Given the description of an element on the screen output the (x, y) to click on. 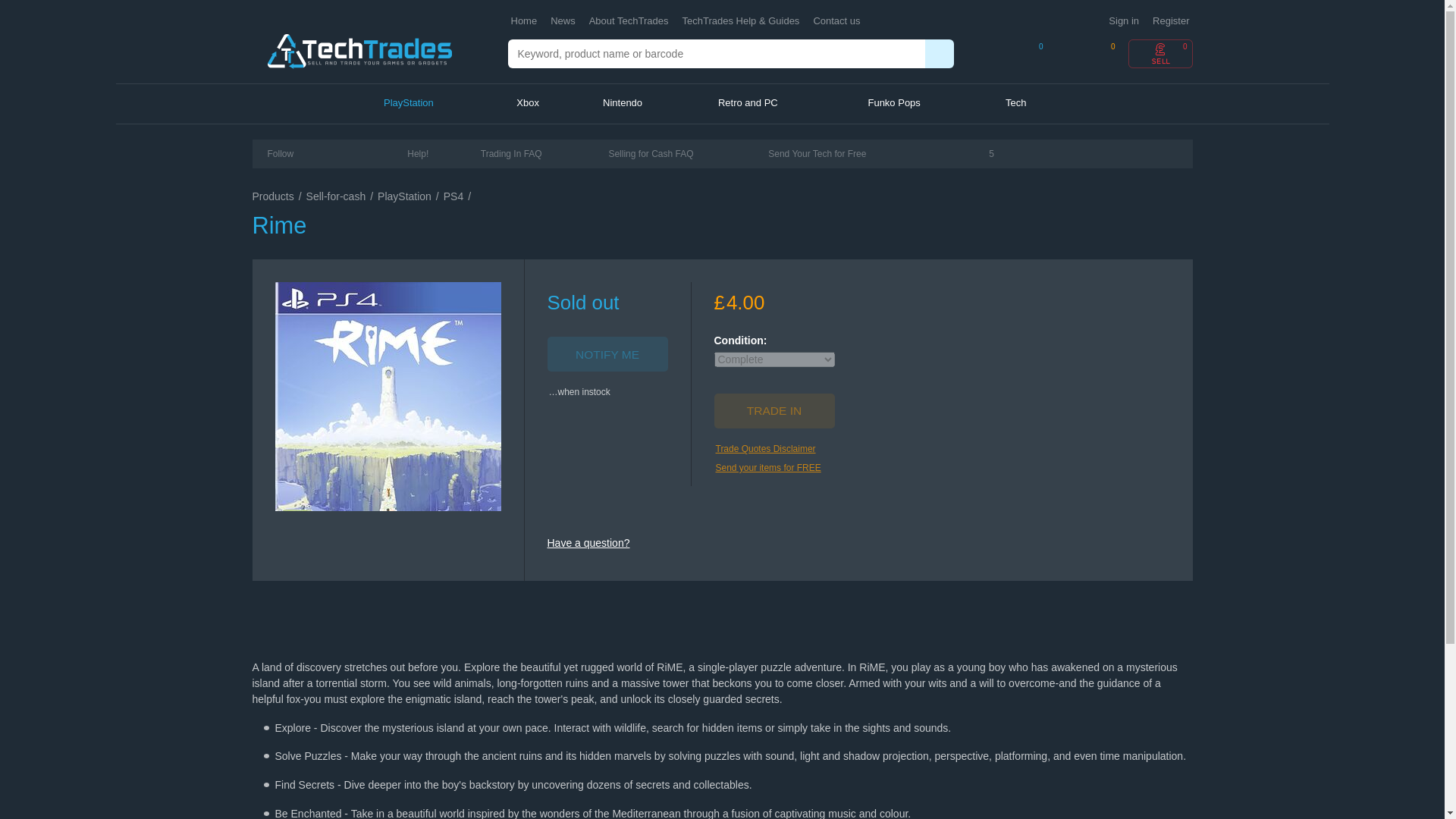
Trade in (774, 410)
Trade in (774, 410)
5 (964, 153)
Products (272, 196)
Trade Quotes Disclaimer (765, 448)
Selling for Cash FAQ (650, 153)
0 (1087, 53)
Send Your Tech for Free (817, 153)
Sell, Trade or Buy Xbox for cash (545, 103)
News (562, 21)
